Given the description of an element on the screen output the (x, y) to click on. 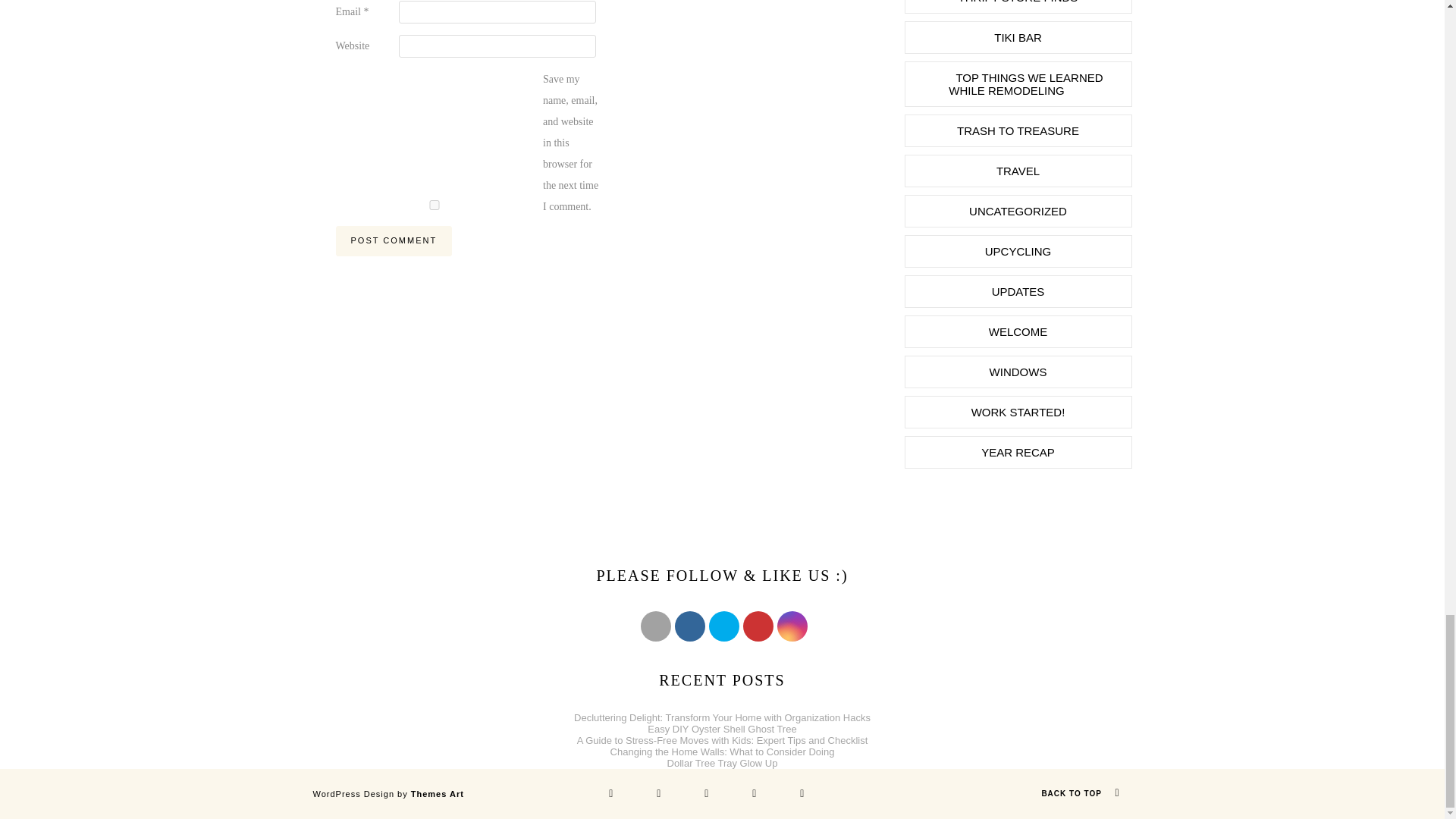
Post Comment (392, 241)
Facebook (689, 626)
Follow by Email (655, 626)
Twitter (724, 626)
yes (433, 204)
Instagram (792, 626)
Post Comment (392, 241)
Pinterest (758, 626)
